Given the description of an element on the screen output the (x, y) to click on. 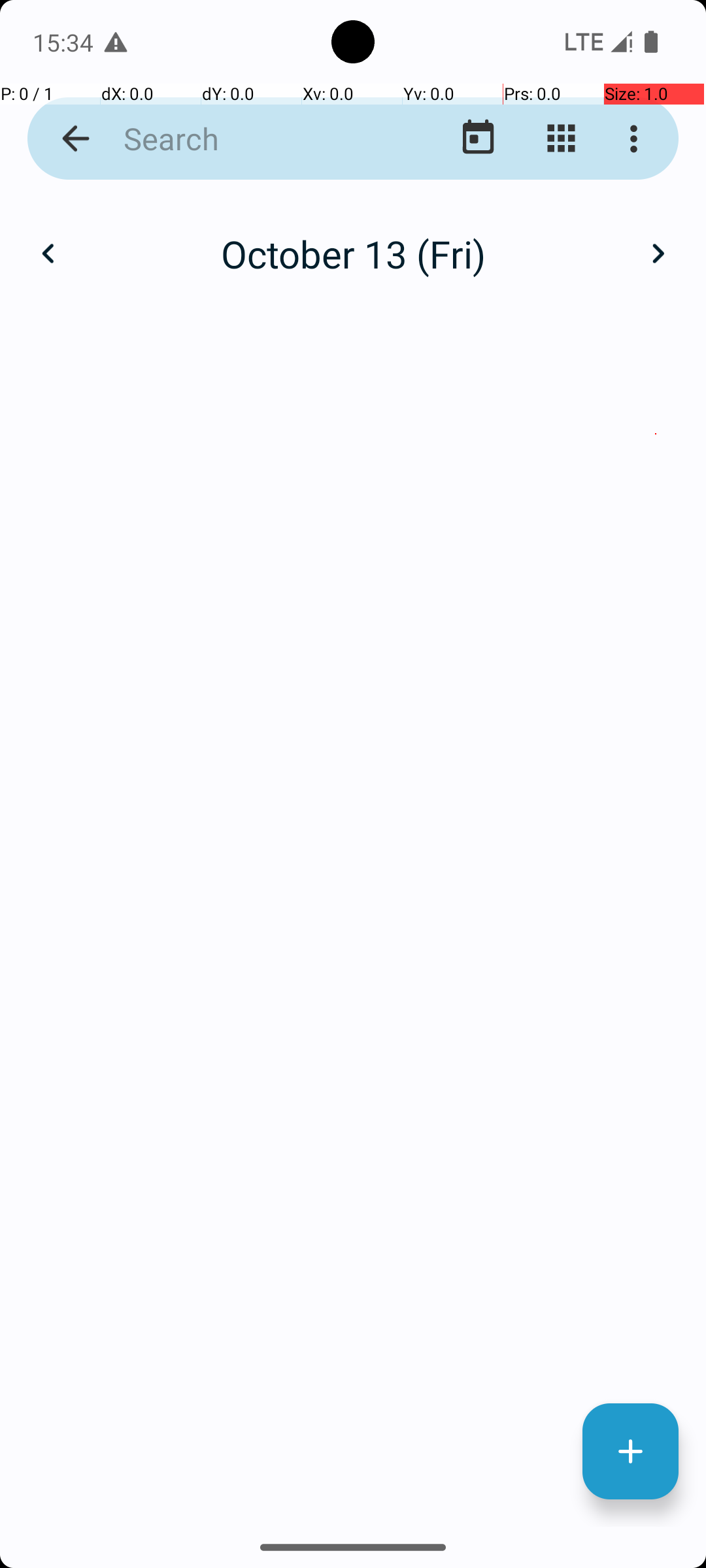
Go to today Element type: android.widget.Button (477, 138)
October Element type: android.widget.TextView (352, 239)
October 13 (Fri) Element type: android.widget.TextView (352, 253)
